Given the description of an element on the screen output the (x, y) to click on. 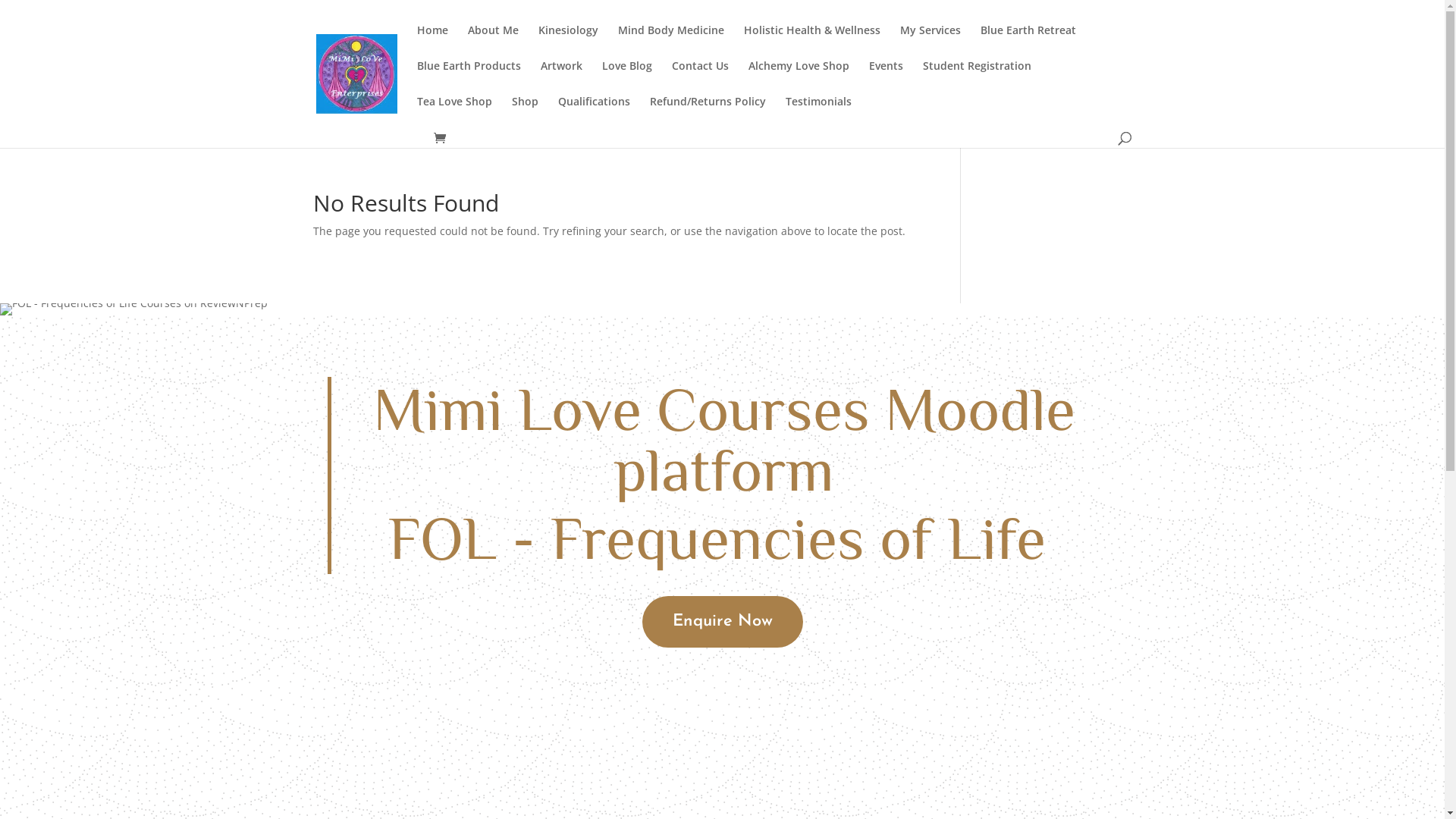
Contact Us Element type: text (699, 78)
Student Registration Element type: text (976, 78)
Mind Body Medicine Element type: text (670, 42)
Enquire Now Element type: text (721, 621)
Artwork Element type: text (560, 78)
About Me Element type: text (492, 42)
Alchemy Love Shop Element type: text (797, 78)
Header FOL - ReviewNPrep Element type: hover (133, 309)
Testimonials Element type: text (818, 113)
Home Element type: text (432, 42)
Refund/Returns Policy Element type: text (707, 113)
Kinesiology Element type: text (568, 42)
Qualifications Element type: text (594, 113)
Tea Love Shop Element type: text (454, 113)
My Services Element type: text (929, 42)
Holistic Health & Wellness Element type: text (811, 42)
Blue Earth Products Element type: text (468, 78)
Blue Earth Retreat Element type: text (1027, 42)
Love Blog Element type: text (627, 78)
Shop Element type: text (524, 113)
Events Element type: text (886, 78)
